Given the description of an element on the screen output the (x, y) to click on. 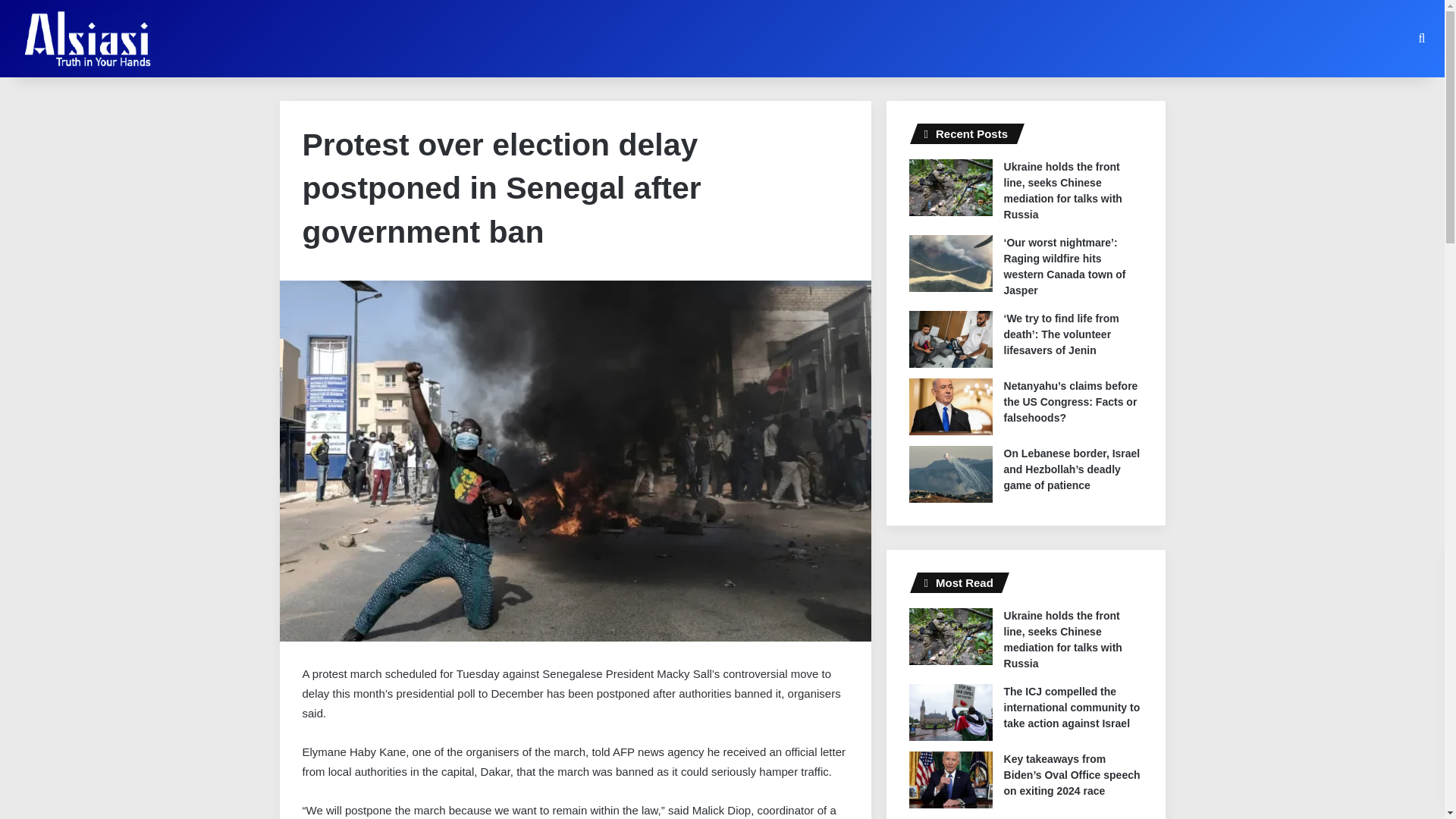
Search for (1421, 38)
Alsiasi (87, 38)
